Given the description of an element on the screen output the (x, y) to click on. 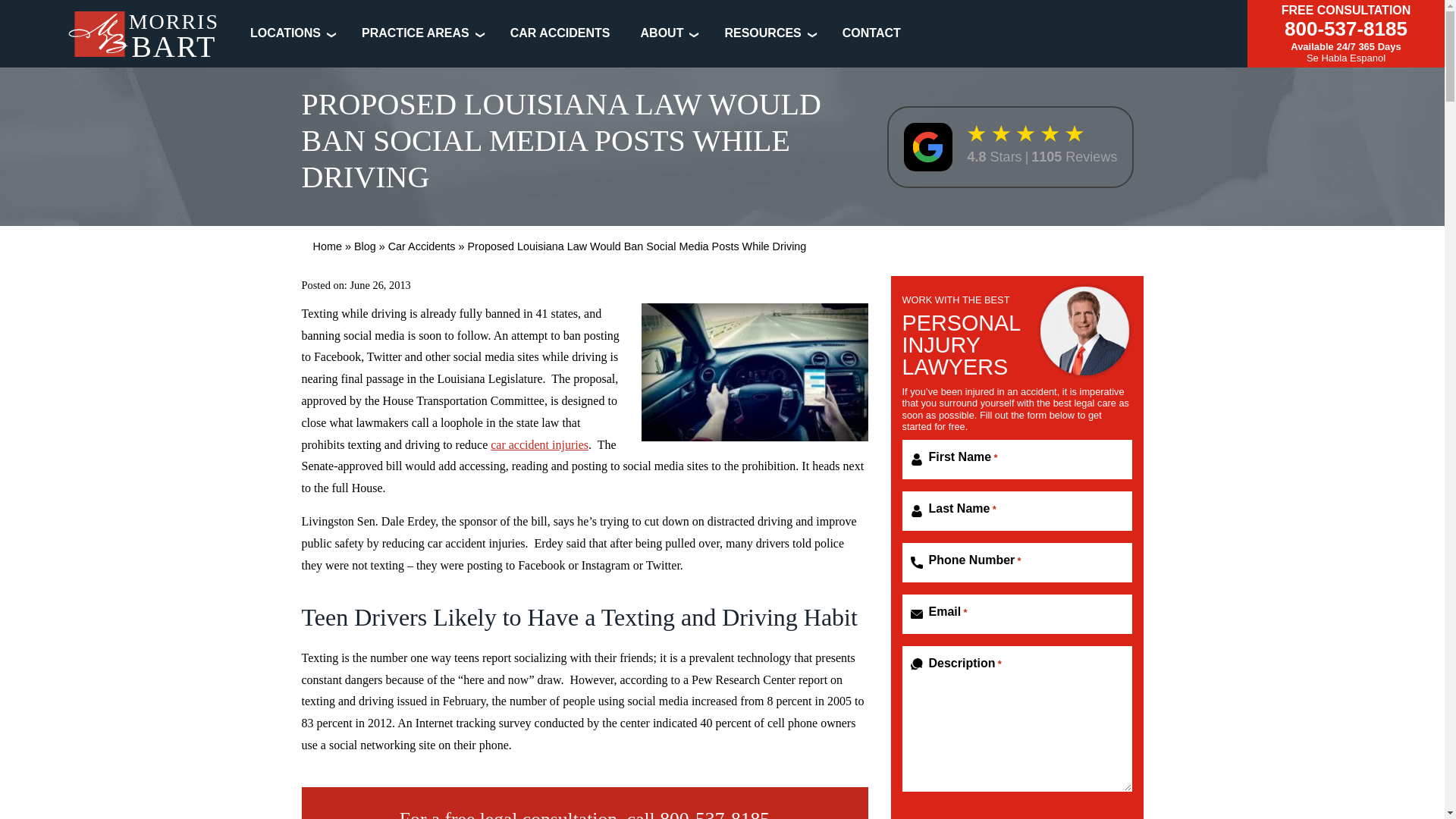
PRACTICE AREAS (414, 32)
MORRISBART (143, 37)
LOCATIONS (285, 32)
